Given the description of an element on the screen output the (x, y) to click on. 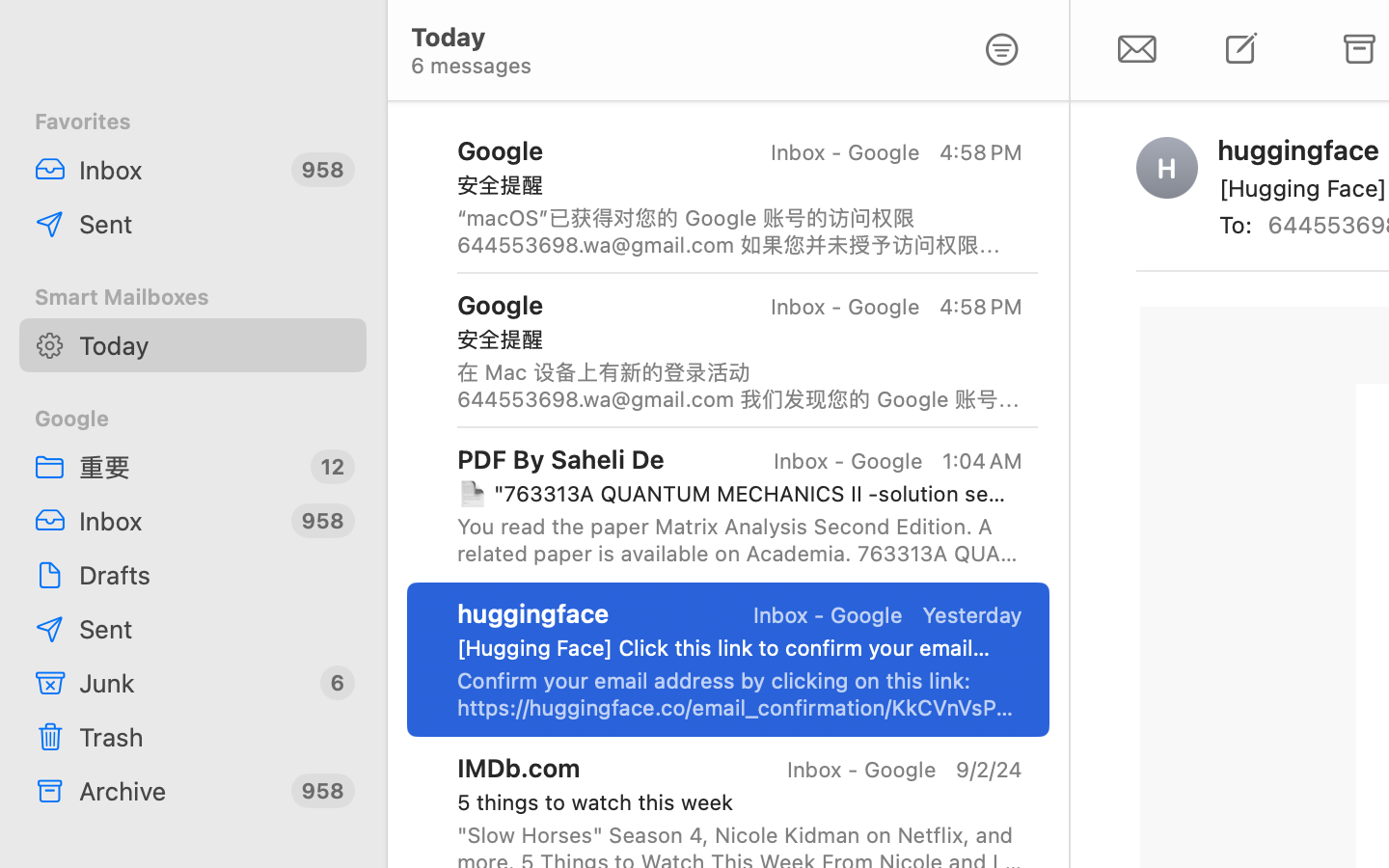
5 things to watch this week Element type: AXStaticText (731, 801)
Google Element type: AXStaticText (192, 418)
H Element type: AXStaticText (1166, 167)
Confirm your email address by clicking on this link: https://huggingface.co/email_confirmation/KkCVnVsPgWKdzUnjgsmNfQwgnwKH If you didn't create a Hugging Face account, you can ignore this email. Hugging Face: The AI community building the future. Element type: AXStaticText (739, 694)
